Given the description of an element on the screen output the (x, y) to click on. 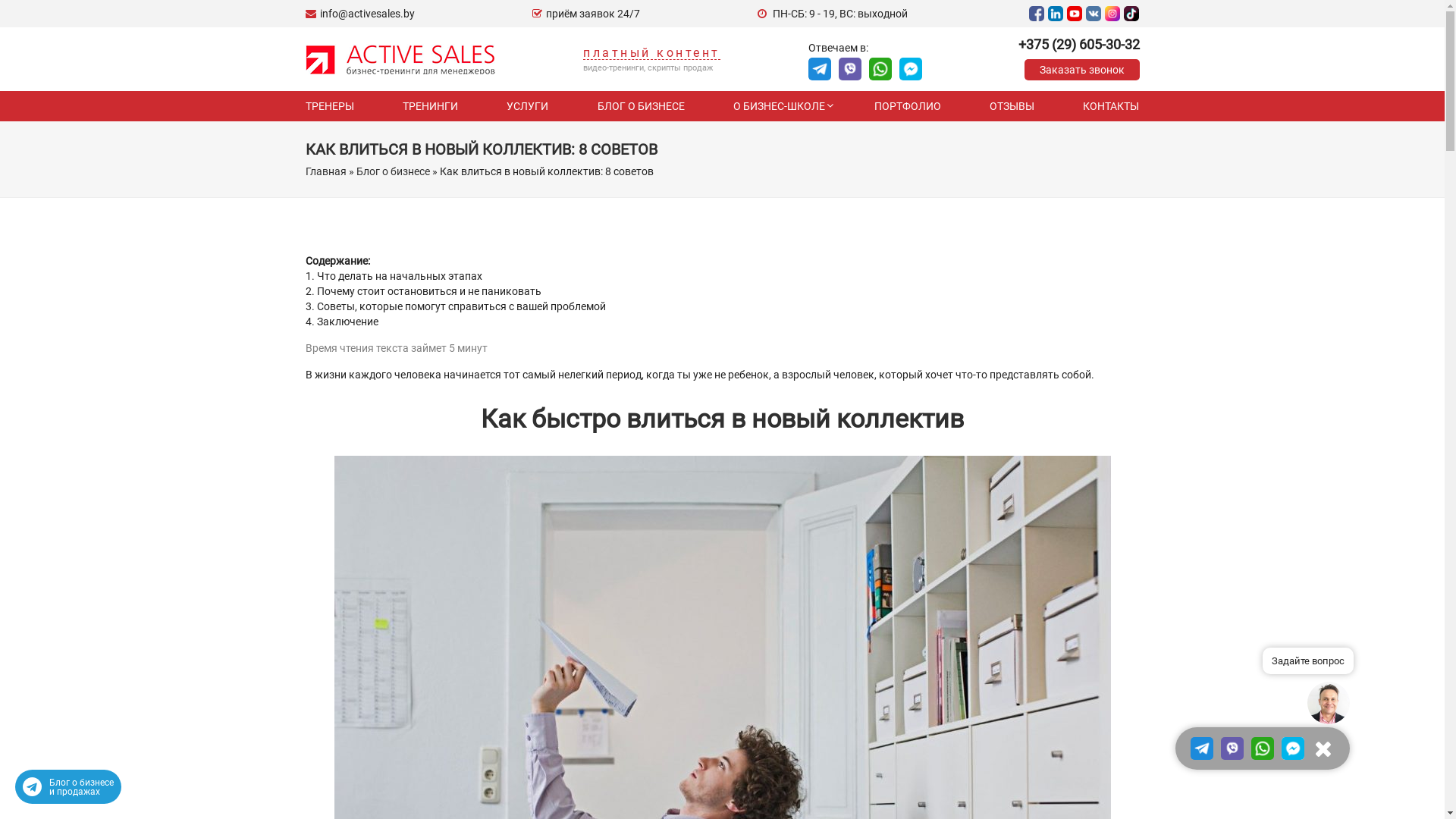
info@activesales.by Element type: text (359, 13)
+375 (29) 605-30-32 Element type: text (1078, 44)
